Given the description of an element on the screen output the (x, y) to click on. 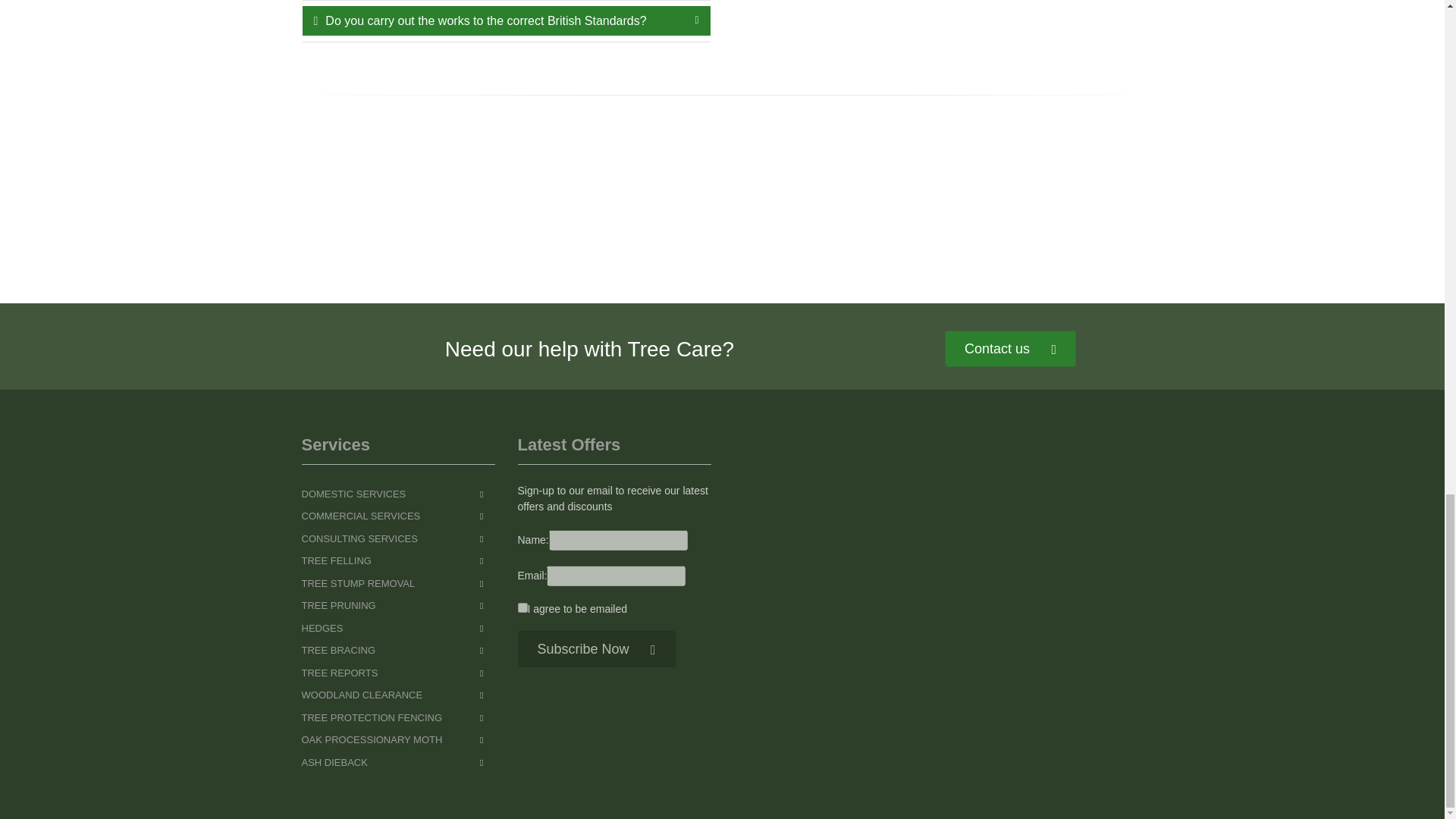
on (521, 607)
